Given the description of an element on the screen output the (x, y) to click on. 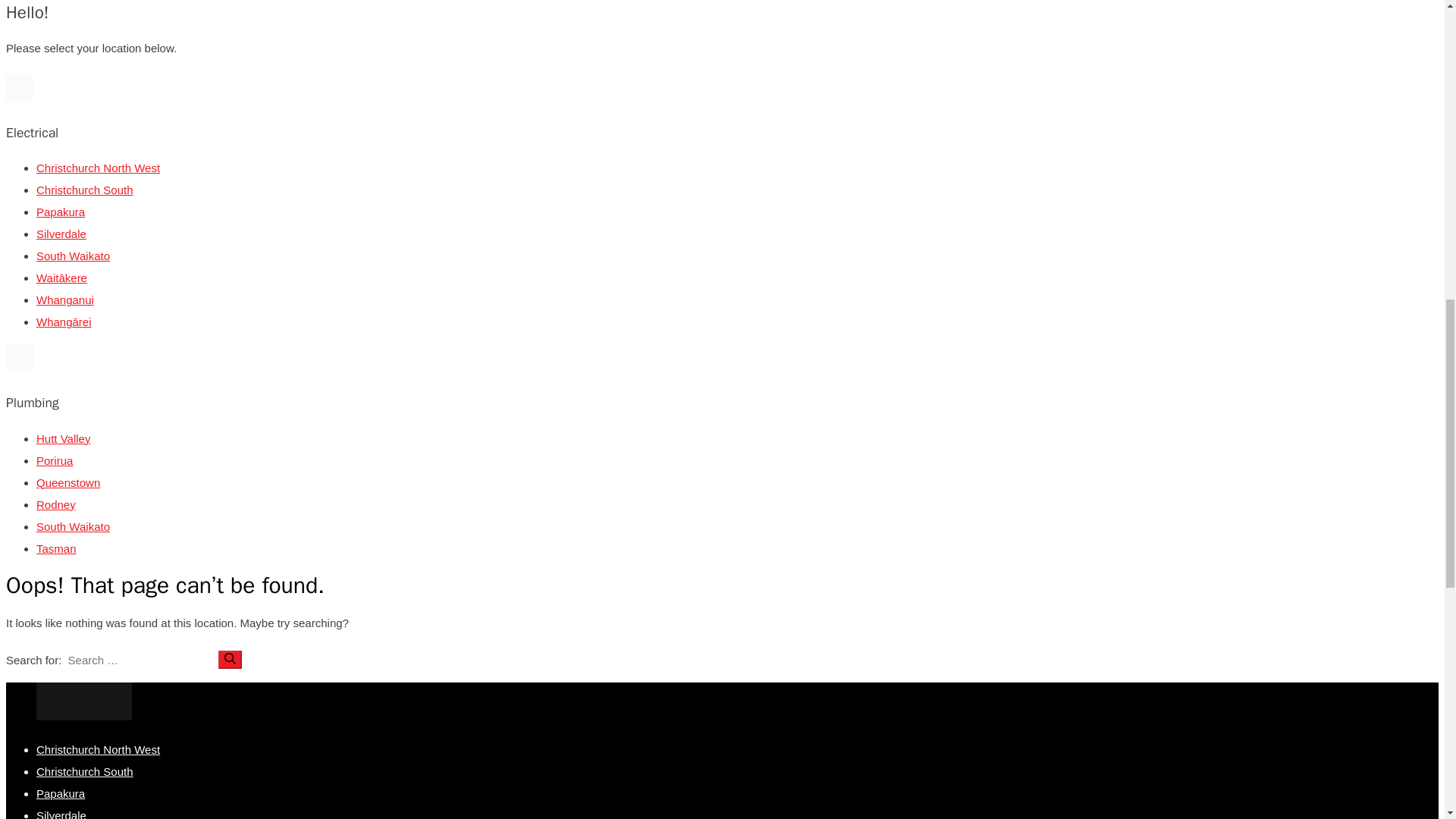
Christchurch South (84, 189)
Papakura (60, 211)
Hutt Valley (63, 438)
South Waikato (73, 255)
Silverdale (60, 233)
Whanganui (65, 299)
Search for: (140, 660)
Christchurch North West (98, 167)
